Given the description of an element on the screen output the (x, y) to click on. 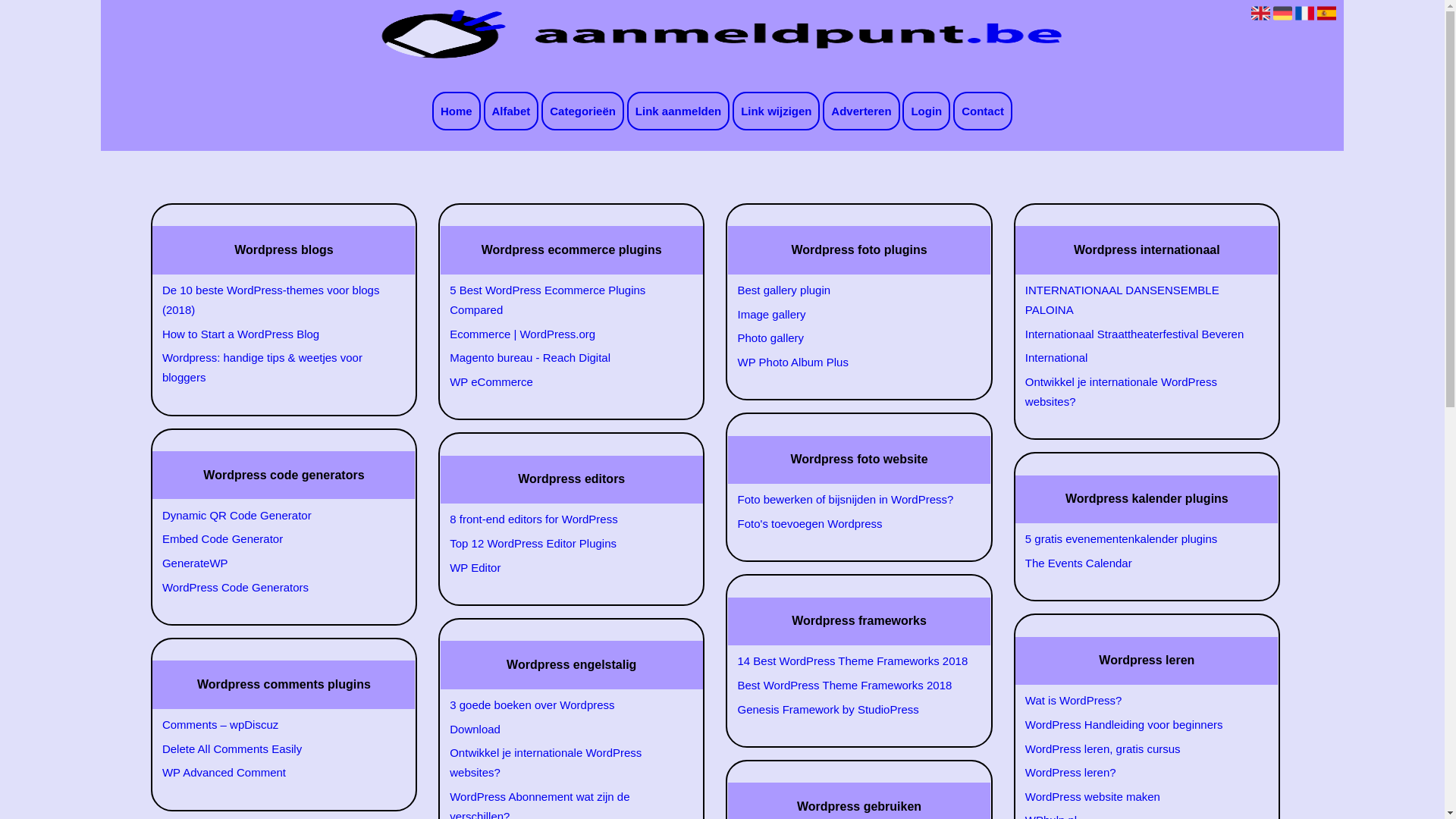
8 front-end editors for WordPress Element type: text (562, 519)
Login Element type: text (926, 110)
WP Editor Element type: text (562, 567)
Wat is WordPress? Element type: text (1137, 700)
The Events Calendar Element type: text (1137, 563)
Link wijzigen Element type: text (775, 110)
International Element type: text (1137, 357)
Embed Code Generator Element type: text (274, 539)
Top 12 WordPress Editor Plugins Element type: text (562, 543)
Wordpress: handige tips & weetjes voor bloggers Element type: text (274, 367)
WordPress Handleiding voor beginners Element type: text (1137, 724)
Alfabet Element type: text (511, 110)
WordPress leren, gratis cursus Element type: text (1137, 749)
Link aanmelden Element type: text (678, 110)
Genesis Framework by StudioPress Element type: text (849, 709)
How to Start a WordPress Blog Element type: text (274, 334)
WP eCommerce Element type: text (562, 382)
Internationaal Straattheaterfestival Beveren Element type: text (1137, 334)
Best gallery plugin Element type: text (849, 290)
WordPress website maken Element type: text (1137, 796)
WP Advanced Comment Element type: text (274, 772)
Image gallery Element type: text (849, 314)
WordPress Code Generators Element type: text (274, 587)
WP Photo Album Plus Element type: text (849, 362)
3 goede boeken over Wordpress Element type: text (562, 705)
De 10 beste WordPress-themes voor blogs (2018) Element type: text (274, 300)
Foto's toevoegen Wordpress Element type: text (849, 523)
14 Best WordPress Theme Frameworks 2018 Element type: text (849, 661)
Ontwikkel je internationale WordPress websites? Element type: text (1137, 391)
Contact Element type: text (982, 110)
INTERNATIONAAL DANSENSEMBLE PALOINA Element type: text (1137, 300)
Photo gallery Element type: text (849, 338)
Best WordPress Theme Frameworks 2018 Element type: text (849, 685)
Home Element type: text (456, 110)
Delete All Comments Easily Element type: text (274, 749)
5 Best WordPress Ecommerce Plugins Compared Element type: text (562, 300)
Ontwikkel je internationale WordPress websites? Element type: text (562, 762)
Dynamic QR Code Generator Element type: text (274, 515)
GenerateWP Element type: text (274, 563)
Foto bewerken of bijsnijden in WordPress? Element type: text (849, 499)
Magento bureau - Reach Digital Element type: text (562, 357)
5 gratis evenementenkalender plugins Element type: text (1137, 539)
Adverteren Element type: text (860, 110)
Ecommerce | WordPress.org Element type: text (562, 334)
Download Element type: text (562, 729)
WordPress leren? Element type: text (1137, 772)
